Given the description of an element on the screen output the (x, y) to click on. 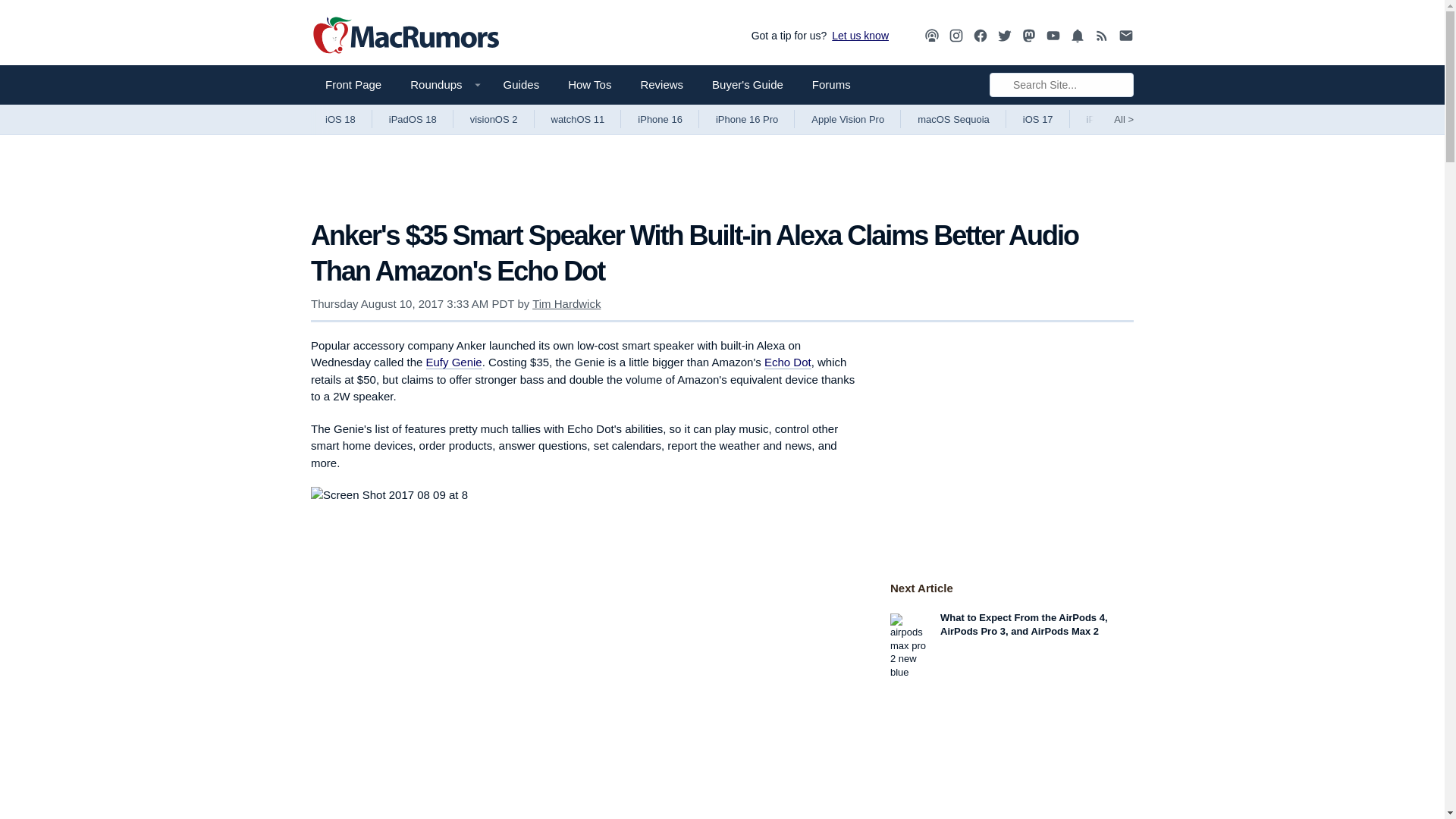
MacRumors RSS Feed (1101, 35)
MacRumors on Instagram (956, 35)
Reviews (661, 84)
Newsletter (1126, 35)
Front Page (353, 84)
Mastodon (1029, 35)
MacRumors Push Notifications (1077, 35)
MacRumors YouTube Channel (1053, 35)
MacRumors Show (931, 35)
Twitter (1004, 35)
